Given the description of an element on the screen output the (x, y) to click on. 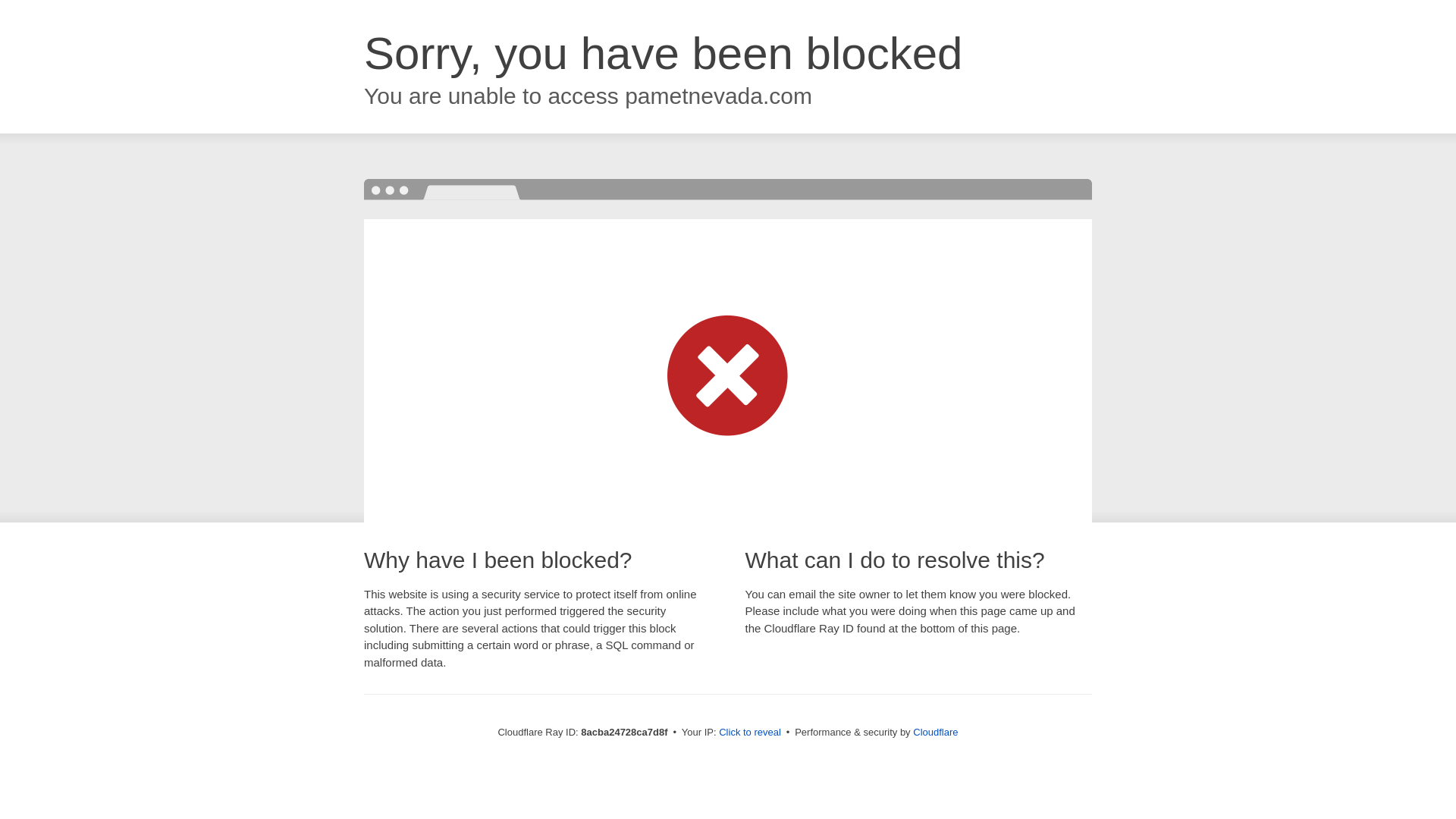
Cloudflare (935, 731)
Click to reveal (749, 732)
